Given the description of an element on the screen output the (x, y) to click on. 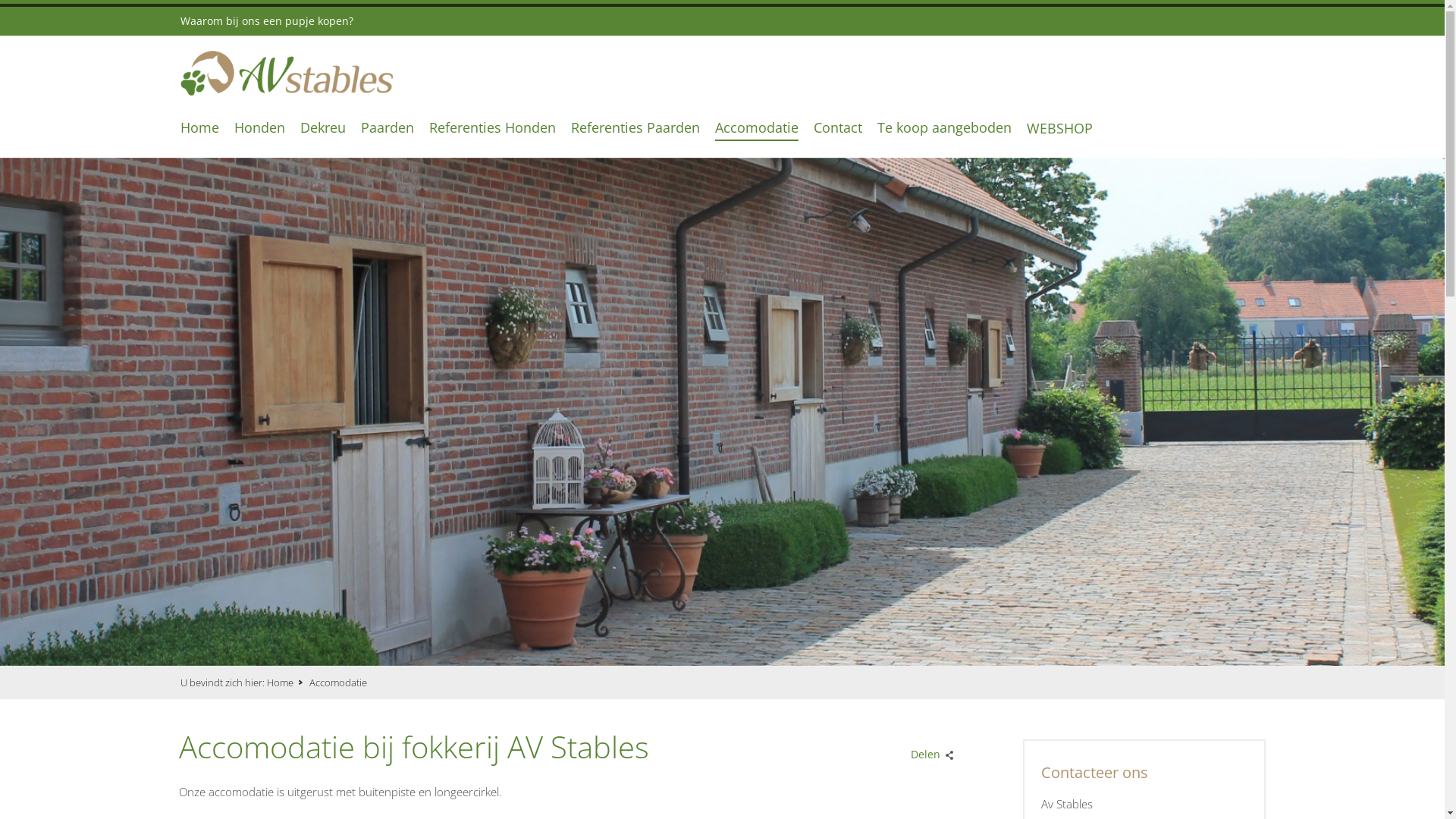
Te koop aangeboden Element type: text (944, 126)
Paarden Element type: text (387, 126)
Referenties Paarden Element type: text (635, 126)
WEBSHOP Element type: text (1059, 126)
Waarom bij ons een pupje kopen? Element type: text (275, 20)
Accomodatie Element type: text (344, 682)
Referenties Honden Element type: text (492, 126)
Dekreu Element type: text (322, 126)
Accomodatie Element type: text (756, 126)
Contact Element type: text (837, 126)
Home Element type: text (199, 126)
Honden Element type: text (259, 126)
Home Element type: text (286, 682)
Delen Element type: text (928, 749)
